Given the description of an element on the screen output the (x, y) to click on. 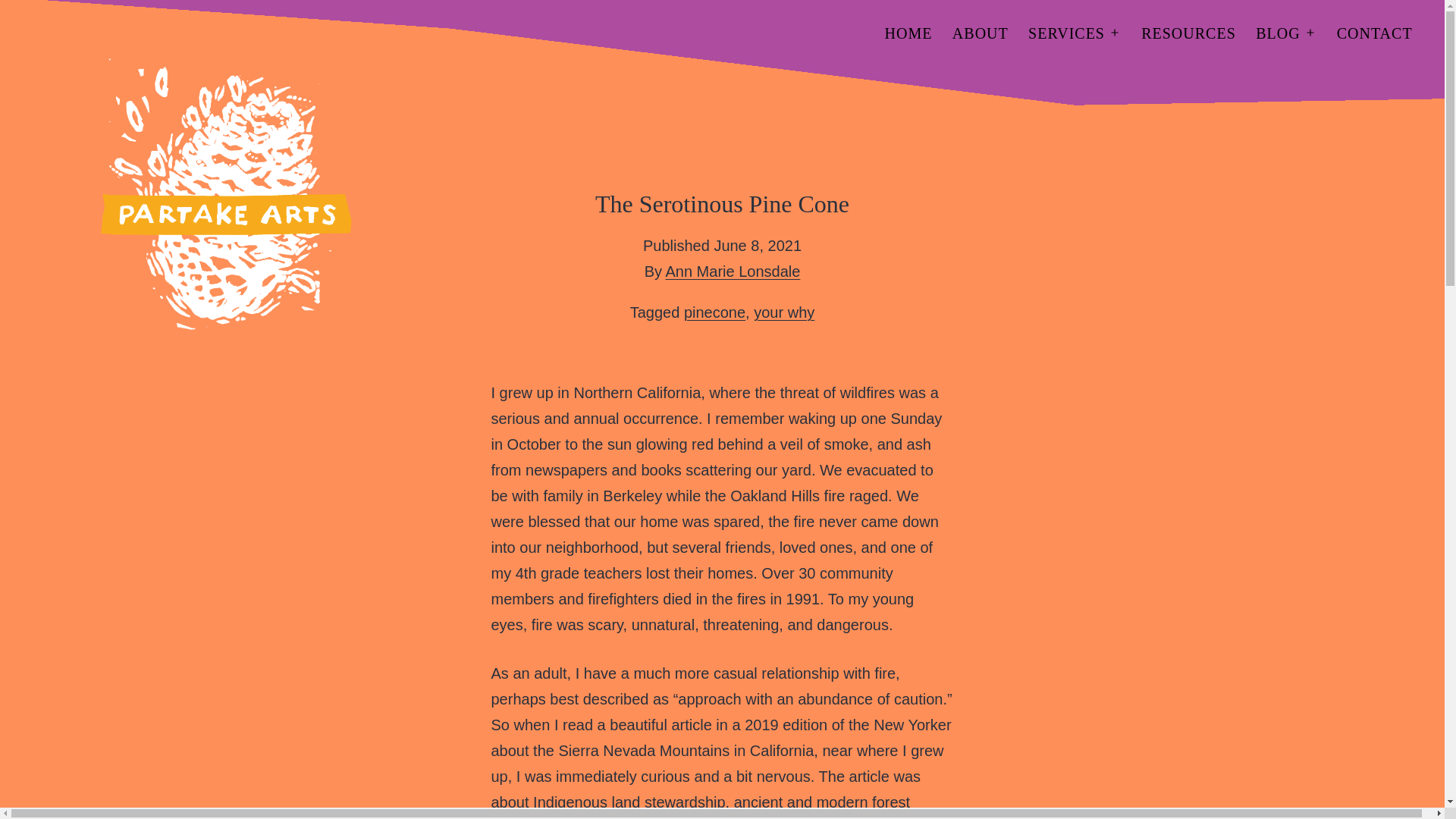
HOME (908, 33)
ABOUT (979, 33)
SERVICES (1066, 33)
pinecone (714, 312)
BLOG (1278, 33)
your why (783, 312)
CONTACT (1374, 33)
Ann Marie Lonsdale (732, 271)
RESOURCES (1188, 33)
